Given the description of an element on the screen output the (x, y) to click on. 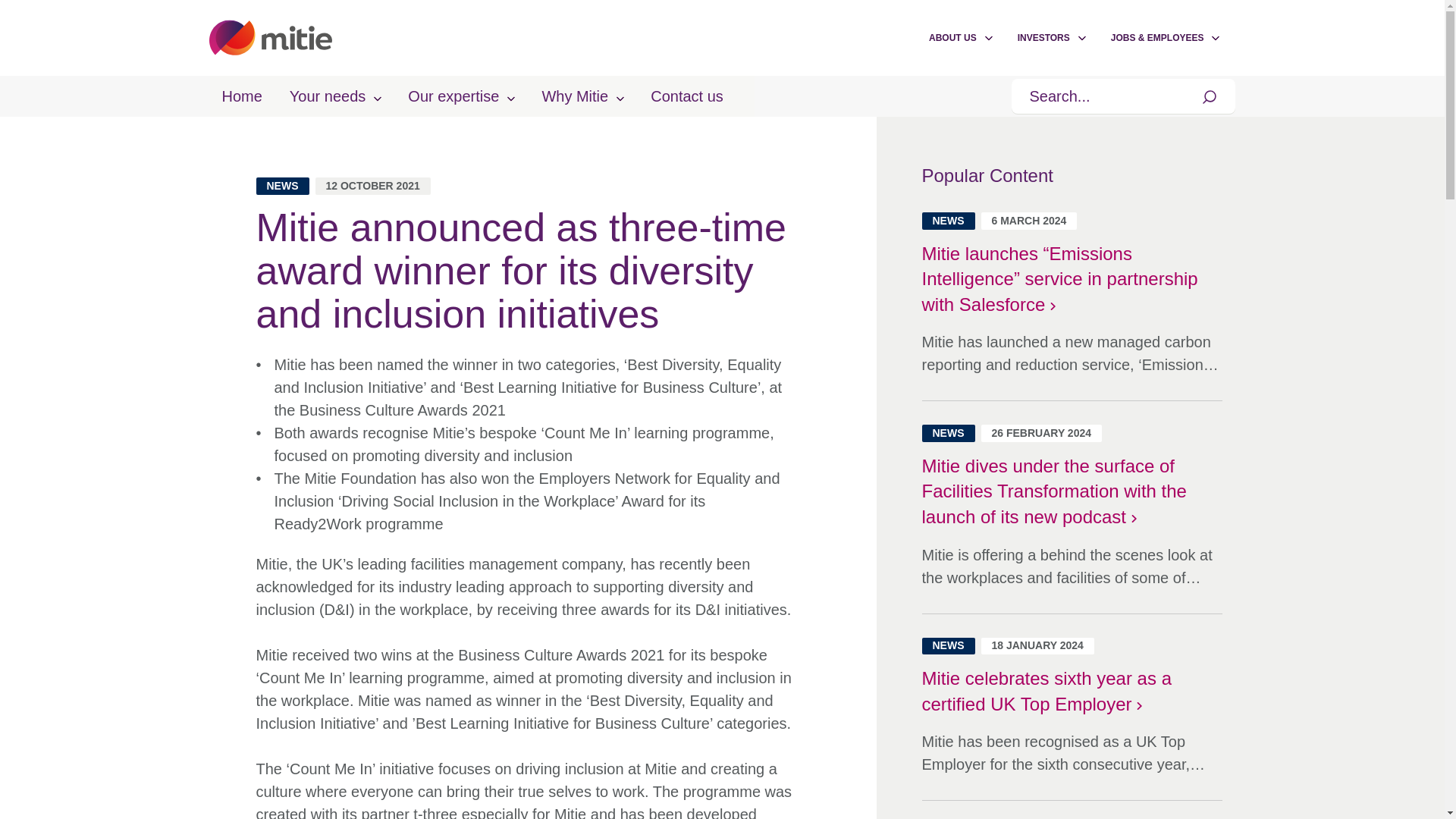
INVESTORS (1043, 37)
ABOUT US (952, 37)
Home (241, 96)
Your needs (335, 96)
